Given the description of an element on the screen output the (x, y) to click on. 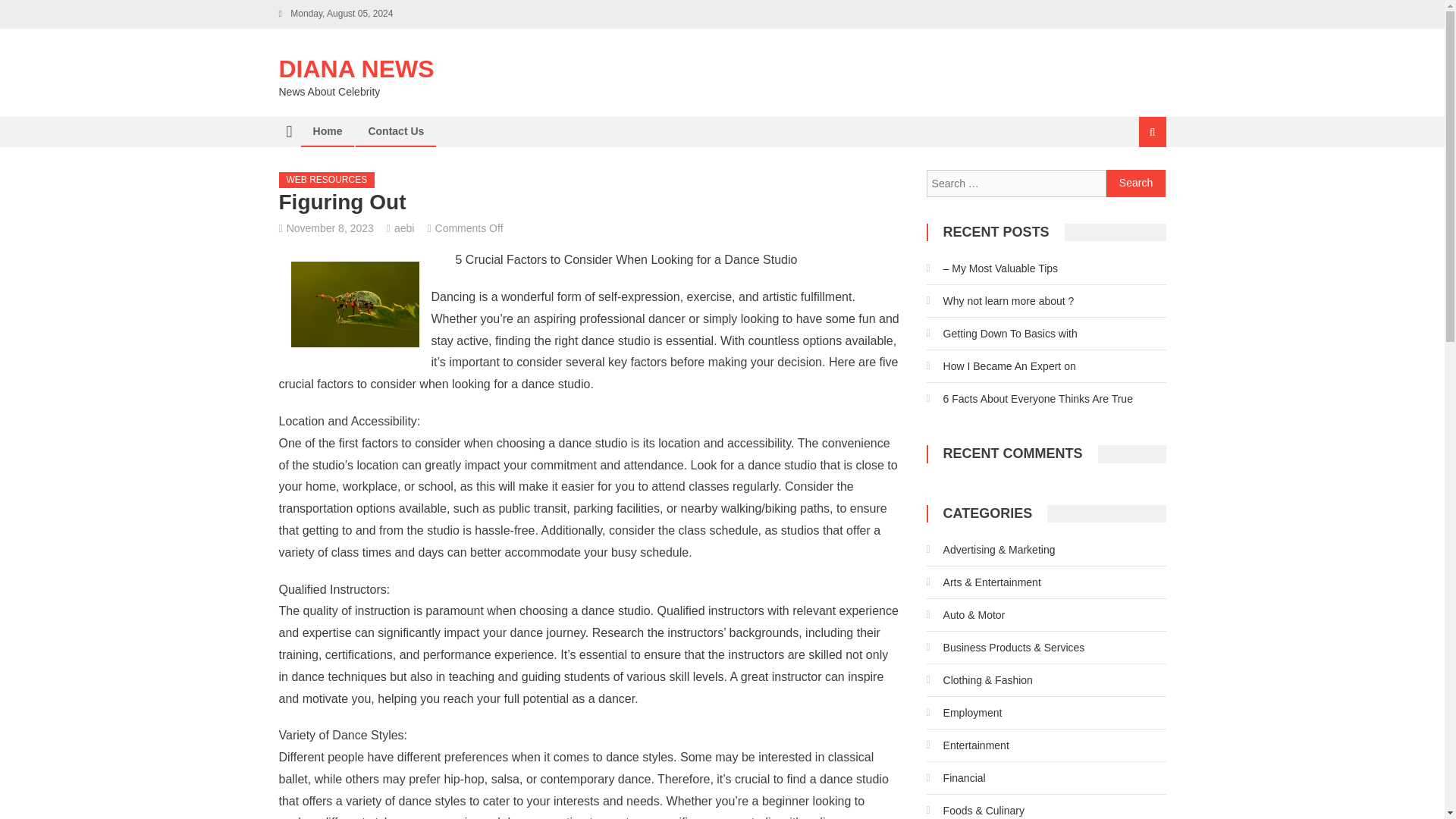
Search (1133, 182)
DIANA NEWS (356, 68)
Why not learn more about ? (1000, 300)
Search (1136, 183)
Search (1136, 183)
Contact Us (395, 131)
November 8, 2023 (330, 227)
Getting Down To Basics with (1001, 333)
How I Became An Expert on (1000, 365)
WEB RESOURCES (327, 180)
